Given the description of an element on the screen output the (x, y) to click on. 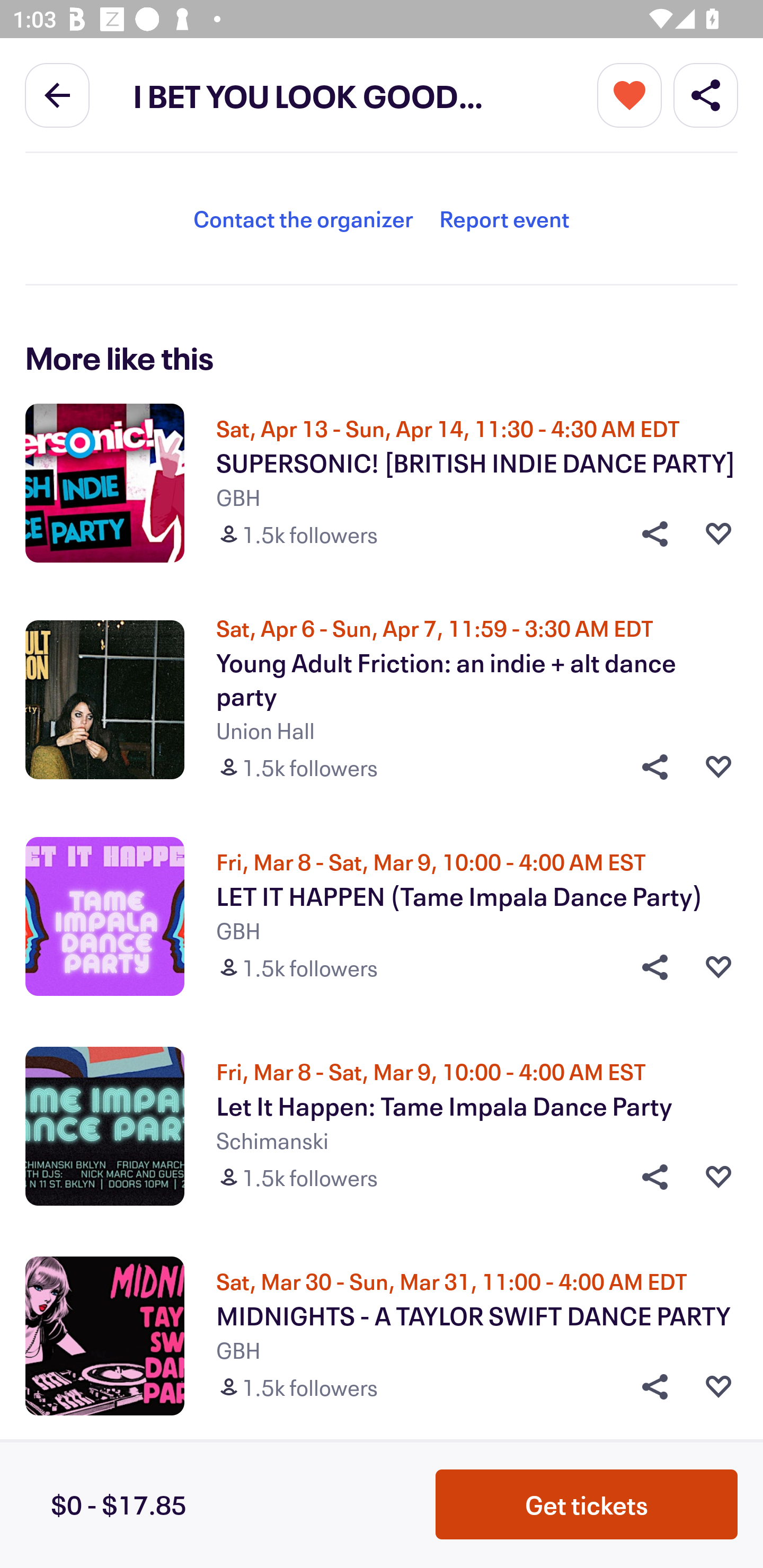
Back (57, 94)
More (629, 94)
Share (705, 94)
Contact the organizer (303, 218)
Report event (504, 218)
Share (648, 533)
Like (718, 533)
Share (648, 767)
Like (718, 767)
Share (648, 967)
Like (718, 967)
Share (648, 1176)
Like (718, 1176)
Share (648, 1386)
Like (718, 1386)
Get tickets (586, 1504)
